Given the description of an element on the screen output the (x, y) to click on. 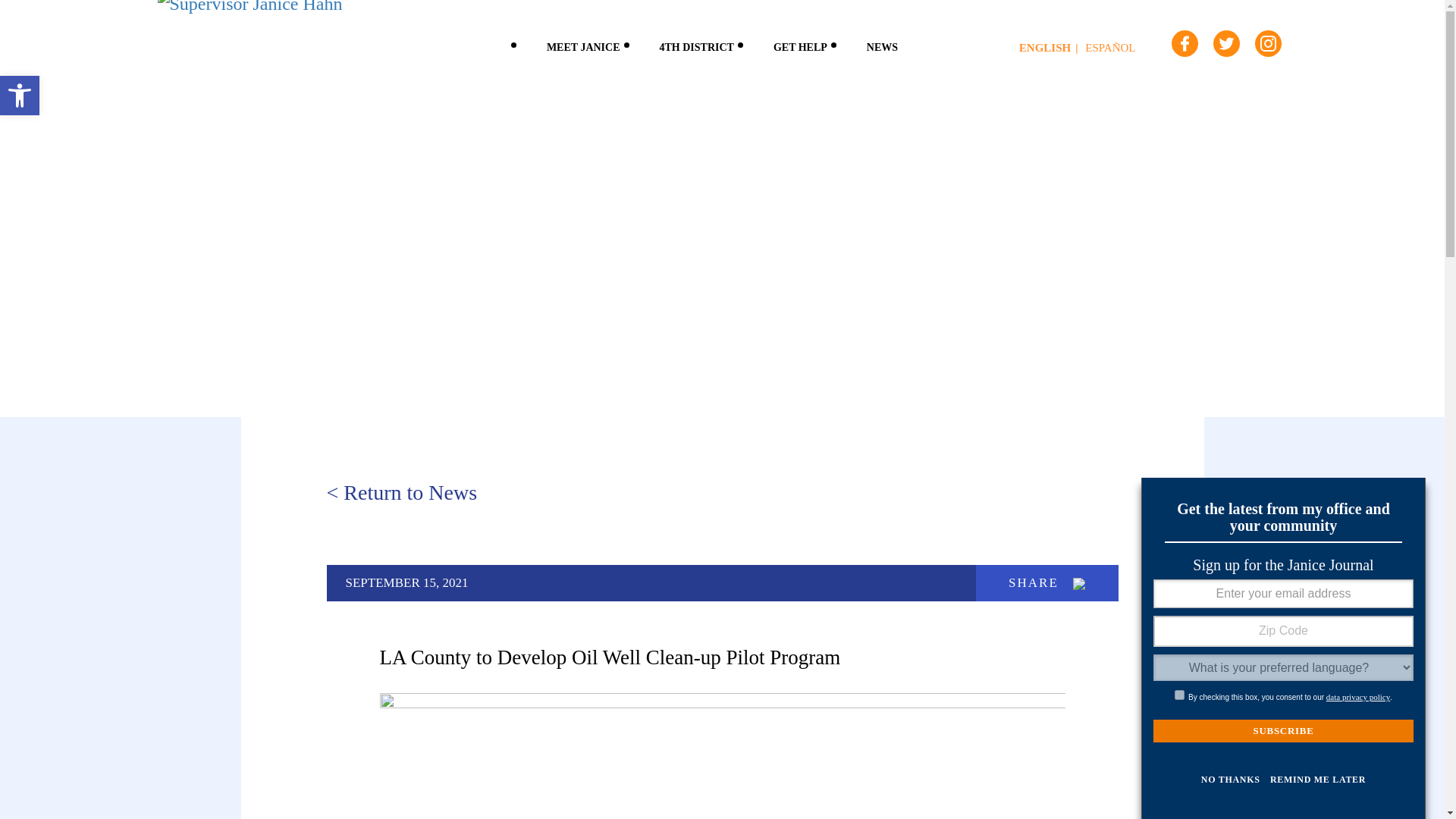
4TH DISTRICT (697, 44)
GET HELP (800, 44)
Enter your email address (1283, 593)
Accessibility Tools (19, 95)
on (1179, 695)
Readable Font (19, 95)
